Given the description of an element on the screen output the (x, y) to click on. 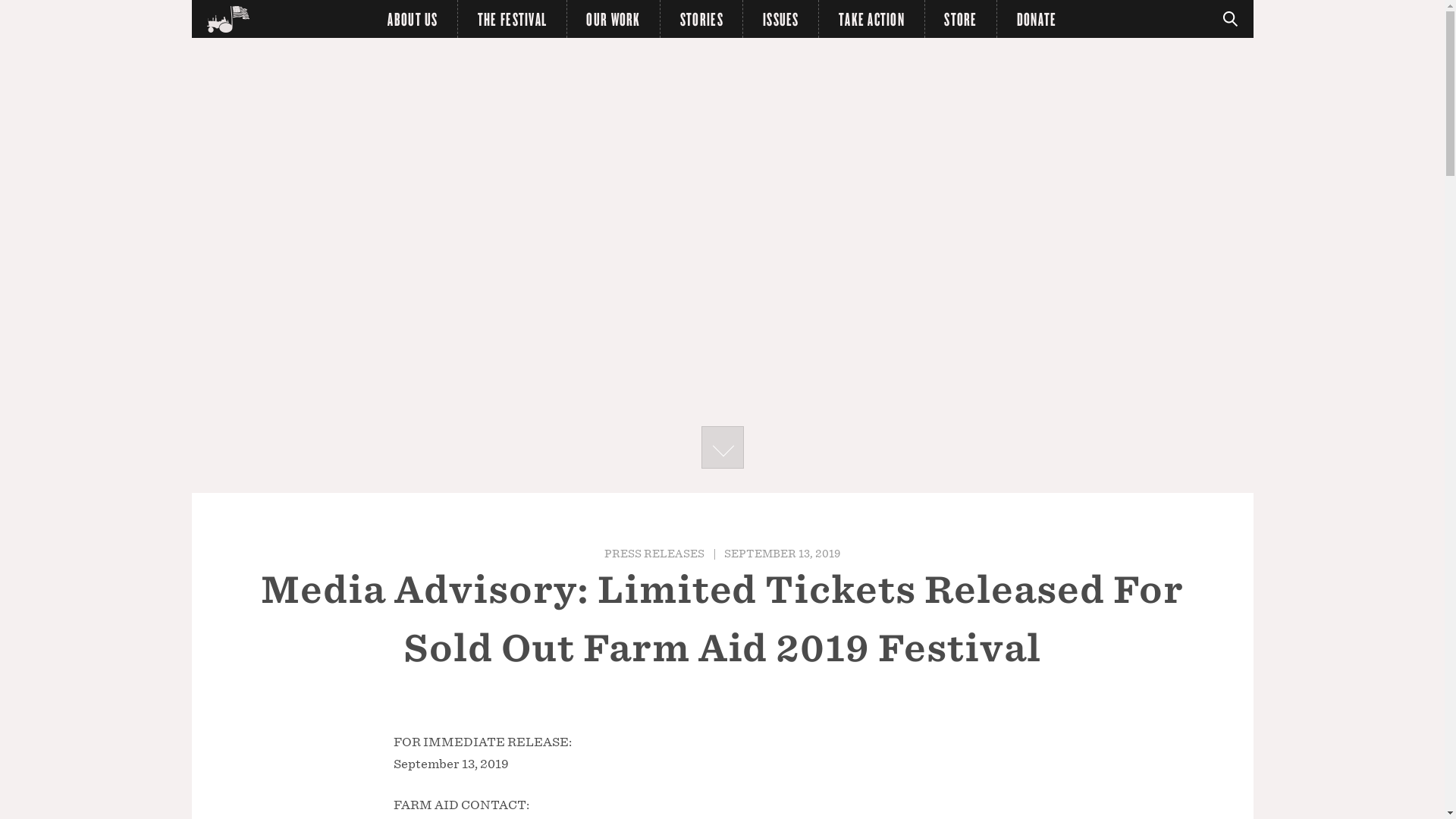
Submit (21, 7)
OUR WORK (614, 18)
STORIES (701, 18)
ISSUES (780, 18)
DONATE (1036, 18)
ABOUT US (413, 18)
down (721, 446)
PRESS RELEASES (654, 553)
THE FESTIVAL (512, 18)
STORE (960, 18)
